Given the description of an element on the screen output the (x, y) to click on. 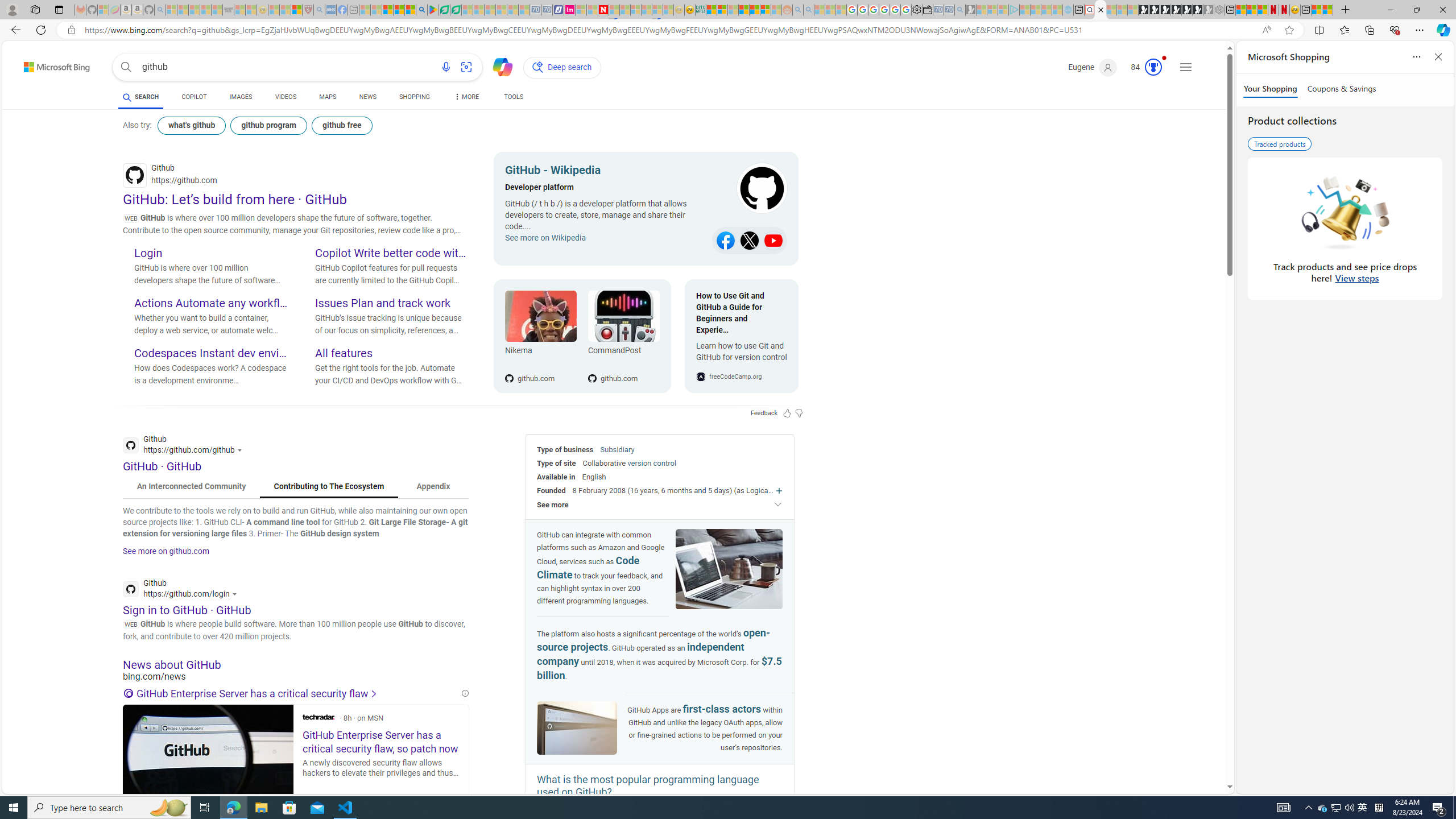
Jobs - lastminute.com Investor Portal (569, 9)
Nikema (540, 352)
github - Search (1100, 9)
Type of business (565, 449)
Codespaces Instant dev environments (210, 353)
14 Common Myths Debunked By Scientific Facts - Sleeping (624, 9)
SEARCH (140, 96)
